Given the description of an element on the screen output the (x, y) to click on. 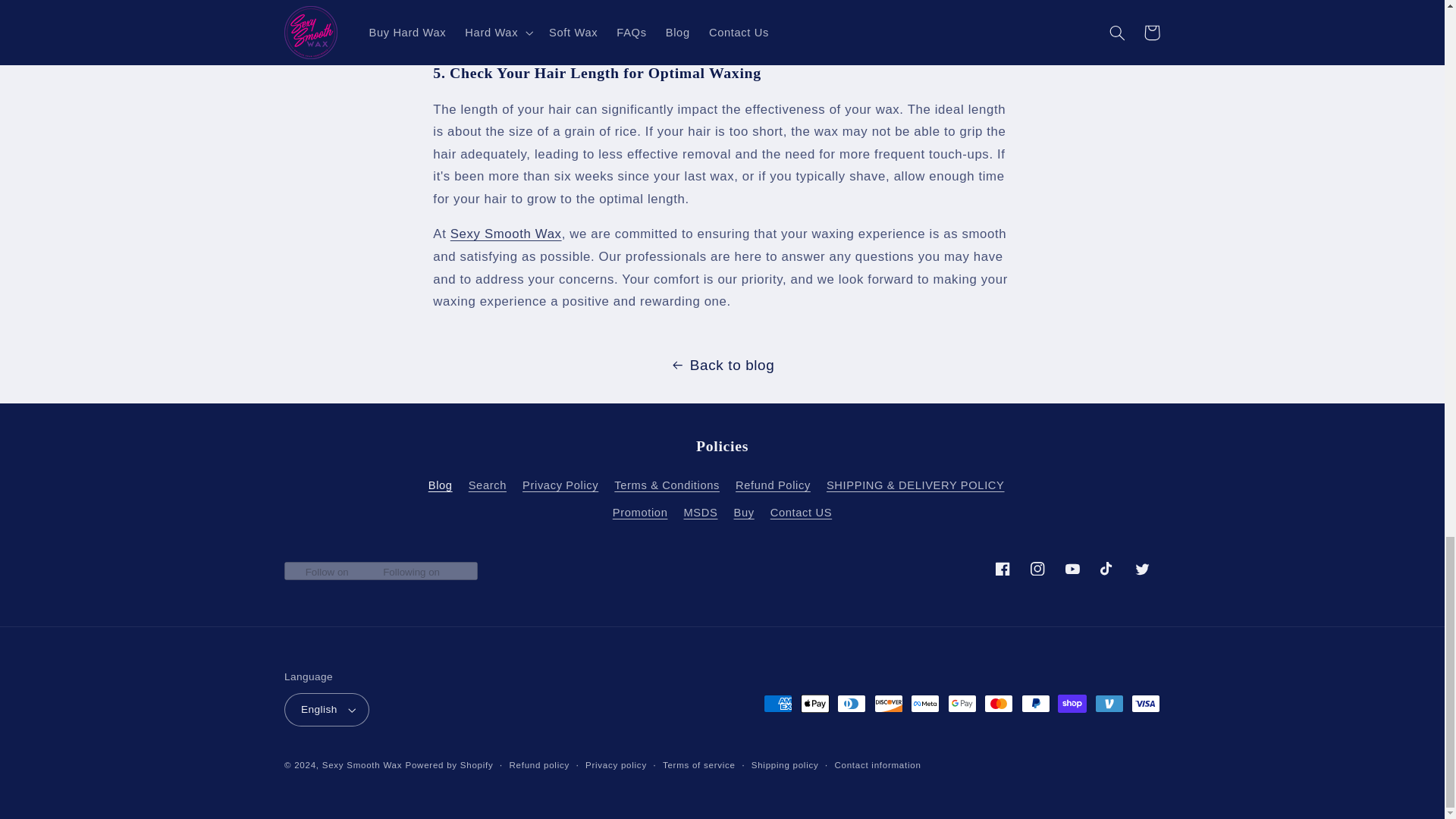
Sexy Smooth Wax (505, 233)
